Given the description of an element on the screen output the (x, y) to click on. 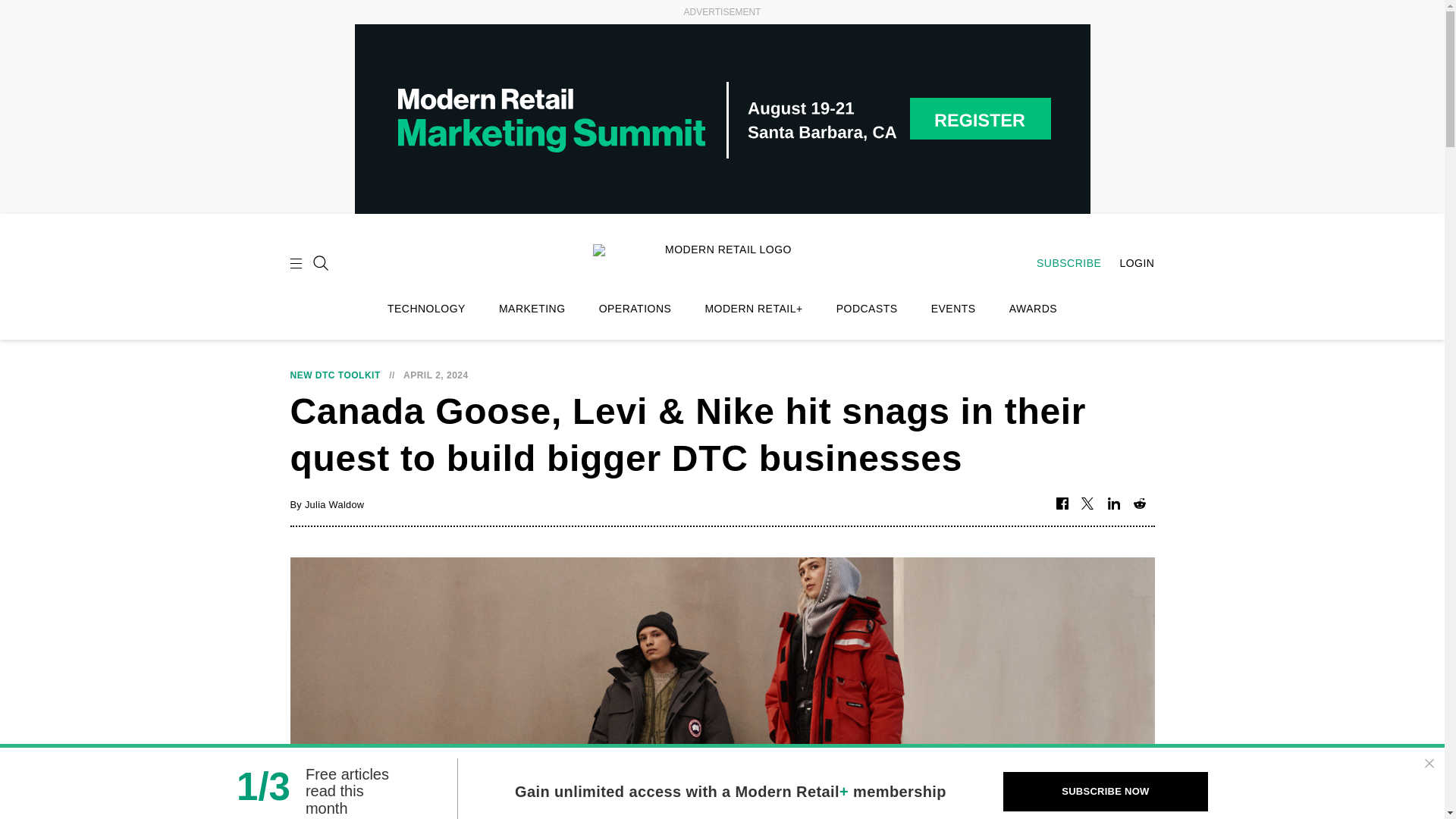
LOGIN (1128, 262)
MARKETING (532, 308)
Share on LinkedIn (1113, 504)
Modern Retail home (722, 261)
AWARDS (1033, 308)
SUBSCRIBE (1061, 262)
OPERATIONS (634, 308)
EVENTS (953, 308)
Share on Twitter (1087, 504)
TECHNOLOGY (426, 308)
PODCASTS (866, 308)
Share on Facebook (1061, 504)
